Given the description of an element on the screen output the (x, y) to click on. 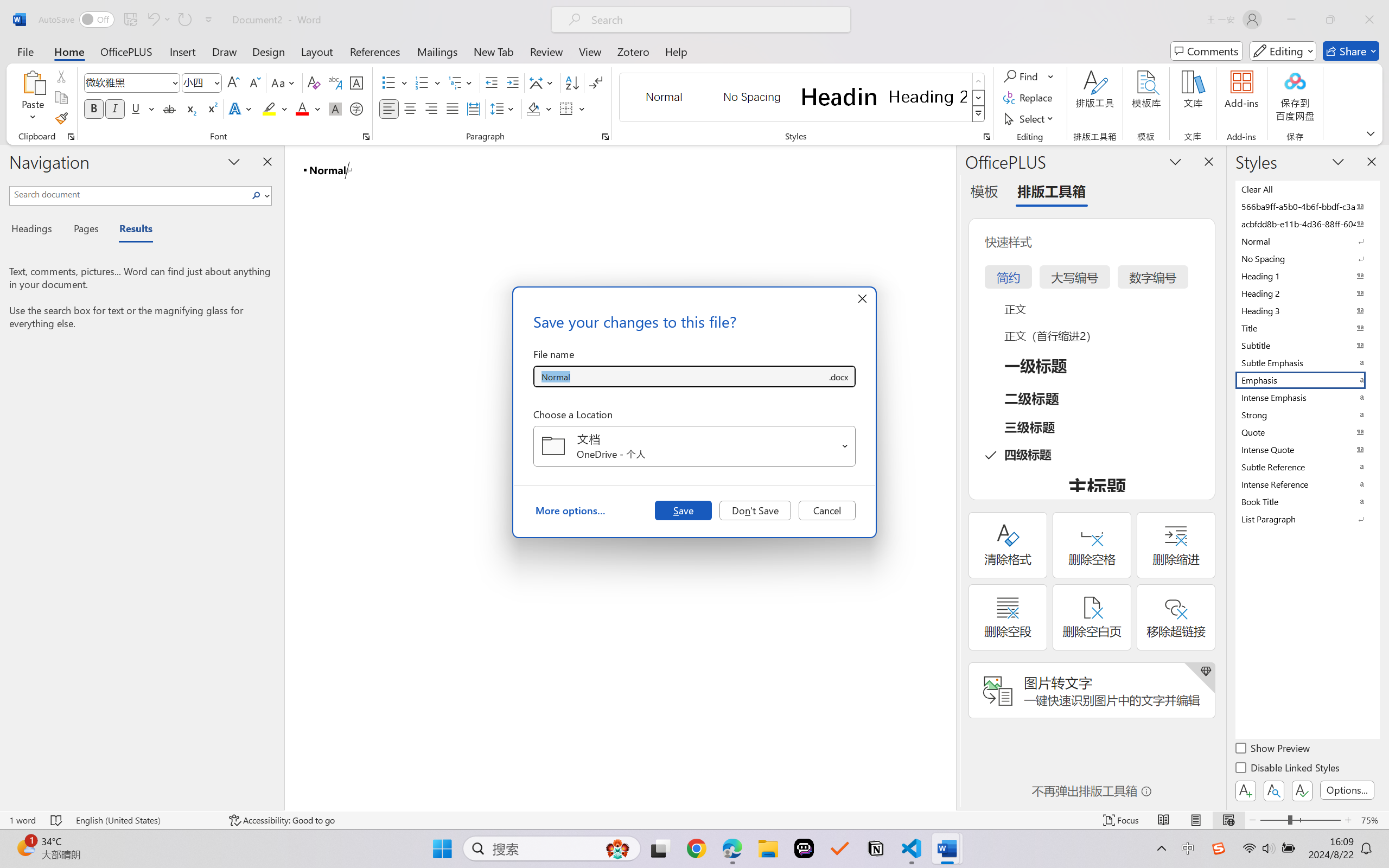
Layout (316, 51)
Notion (875, 848)
Line and Paragraph Spacing (503, 108)
Character Shading (334, 108)
AutoSave (76, 19)
Microsoft search (715, 19)
Justify (452, 108)
Styles... (986, 136)
View (589, 51)
Zoom Out (1273, 819)
Decrease Indent (491, 82)
AutomationID: QuickStylesGallery (802, 97)
Task Pane Options (1175, 161)
